Given the description of an element on the screen output the (x, y) to click on. 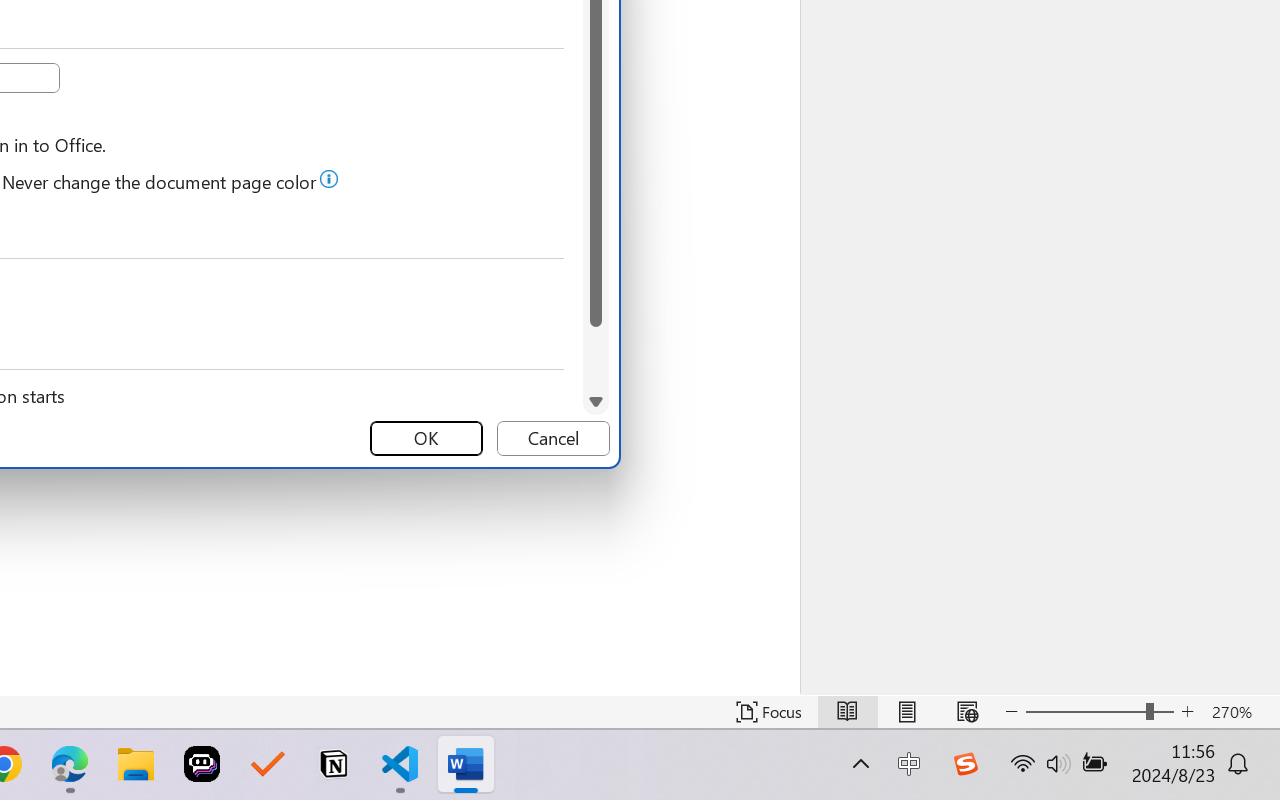
Increase Text Size (1187, 712)
Text Size (1100, 712)
Page down (595, 357)
Line down (595, 401)
